Given the description of an element on the screen output the (x, y) to click on. 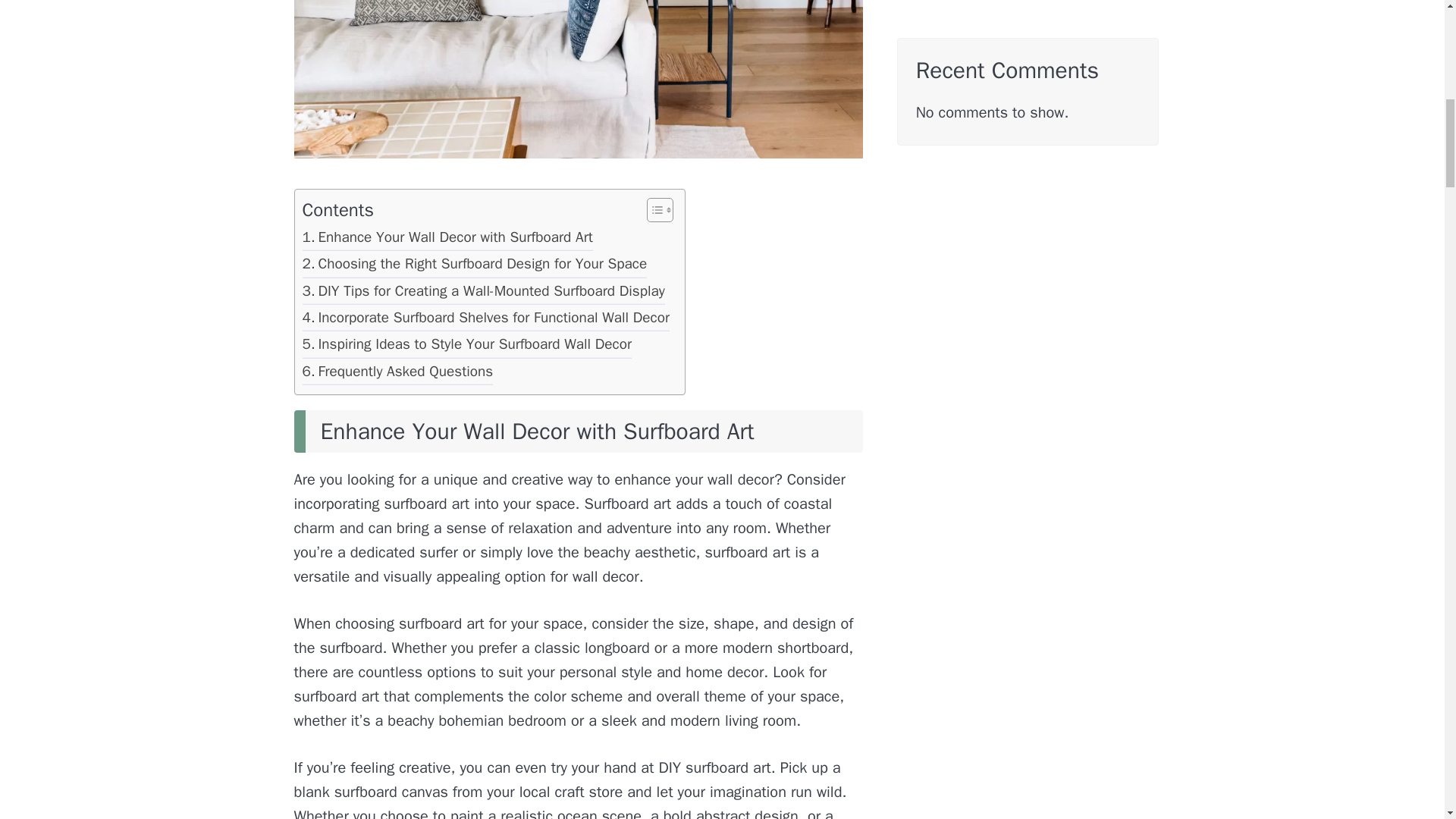
Choosing the Right Surfboard Design for Your Space (473, 265)
Incorporate Surfboard Shelves for Functional Wall Decor (485, 319)
Enhance Your Wall Decor with Surfboard Art (446, 239)
Choosing the Right Surfboard Design for Your Space (473, 265)
Enhance Your Wall Decor with Surfboard Art (446, 239)
Inspiring Ideas to Style Your Surfboard Wall Decor (466, 345)
DIY Tips for Creating a Wall-Mounted Surfboard Display (482, 293)
DIY Tips for Creating a Wall-Mounted Surfboard Display (482, 293)
Frequently Asked Questions (397, 373)
Frequently Asked Questions (397, 373)
Scroll back to top (1406, 720)
Incorporate Surfboard Shelves for Functional Wall Decor (485, 319)
Inspiring Ideas to Style Your Surfboard Wall Decor (466, 345)
